Given the description of an element on the screen output the (x, y) to click on. 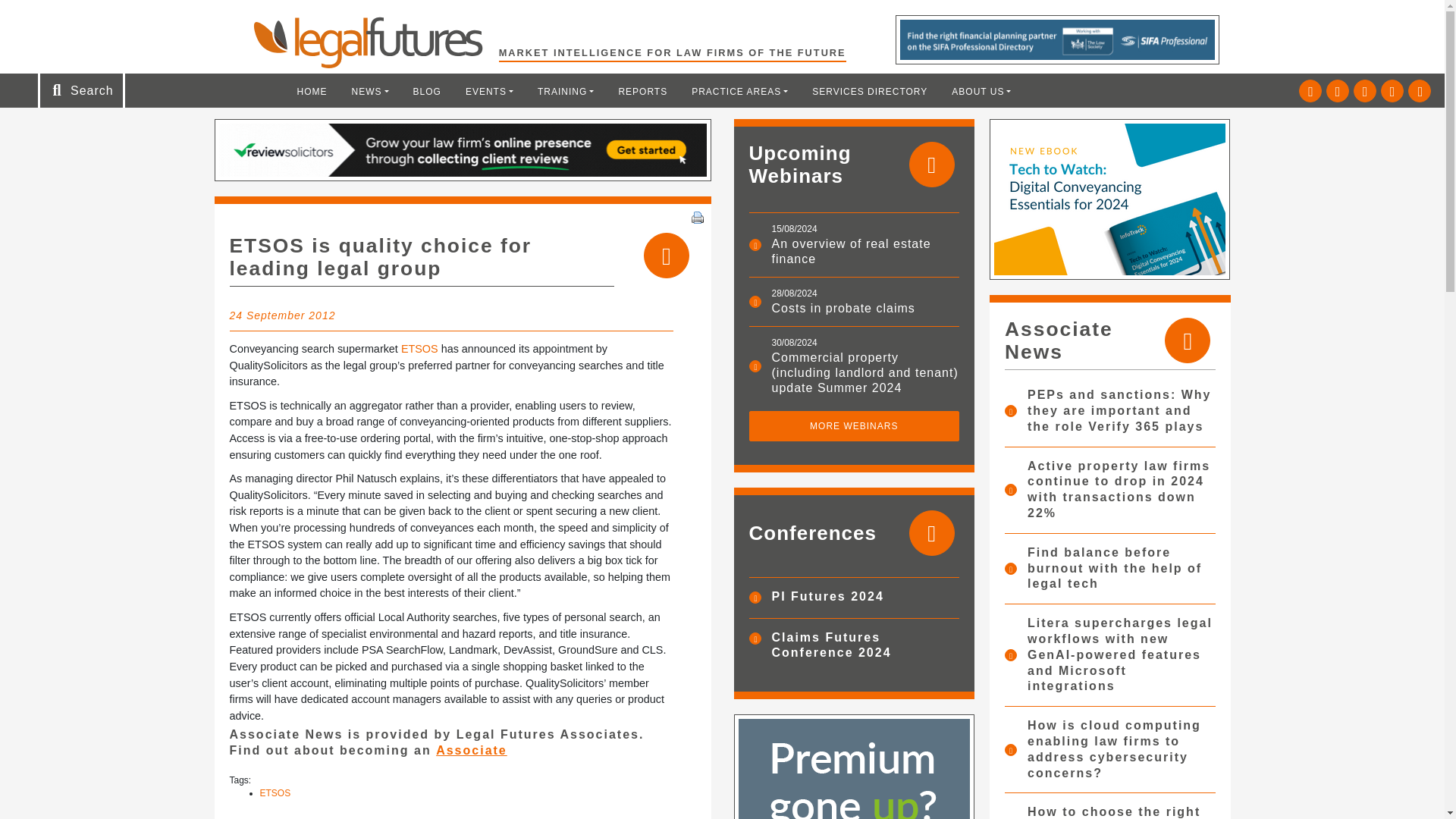
See Legal Futures on Youtube (1391, 90)
Blog (426, 91)
training (565, 91)
Home (312, 91)
Search (51, 16)
Legal Futures homepage (375, 42)
NEWS (370, 91)
See Legal Futures on Twitter (1310, 90)
REPORTS (642, 91)
PRACTICE AREAS (739, 91)
